Given the description of an element on the screen output the (x, y) to click on. 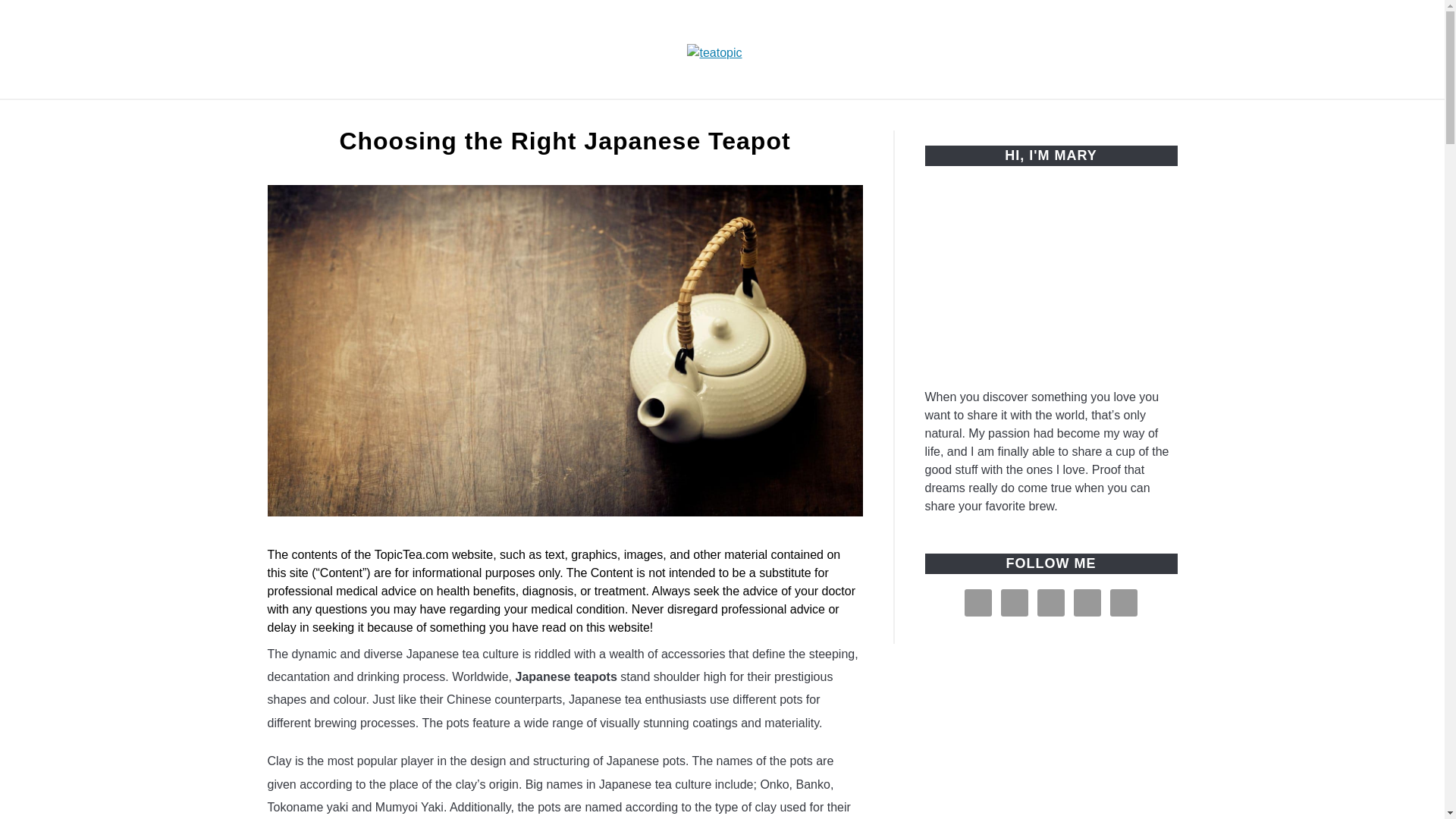
Search (1172, 49)
TEA RECIPES (883, 117)
TEAWARE (776, 117)
TEA FACTS (674, 117)
TEA CULTURE (562, 117)
